Given the description of an element on the screen output the (x, y) to click on. 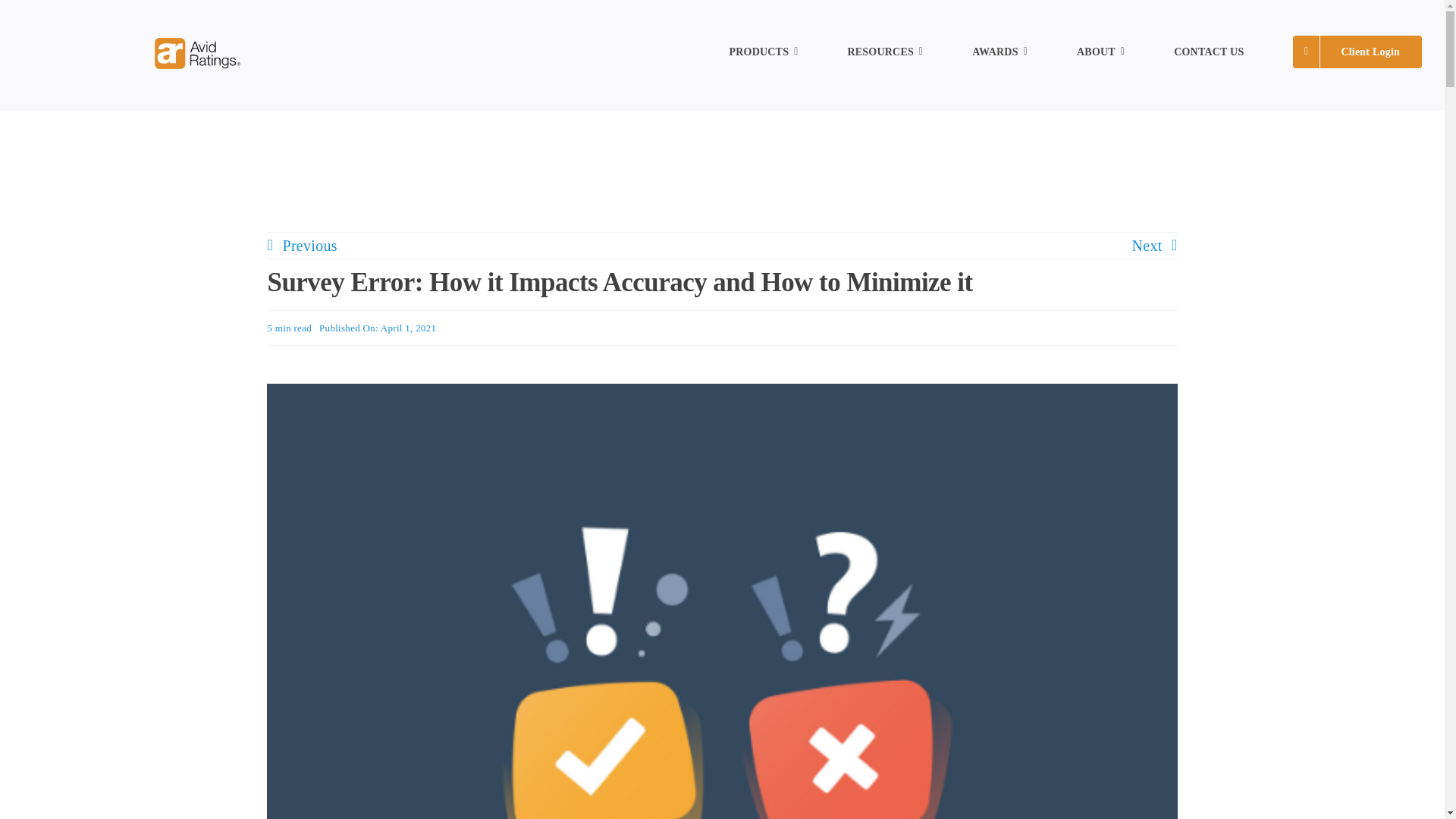
PRODUCTS (763, 51)
AWARDS (999, 51)
RESOURCES (885, 51)
